Given the description of an element on the screen output the (x, y) to click on. 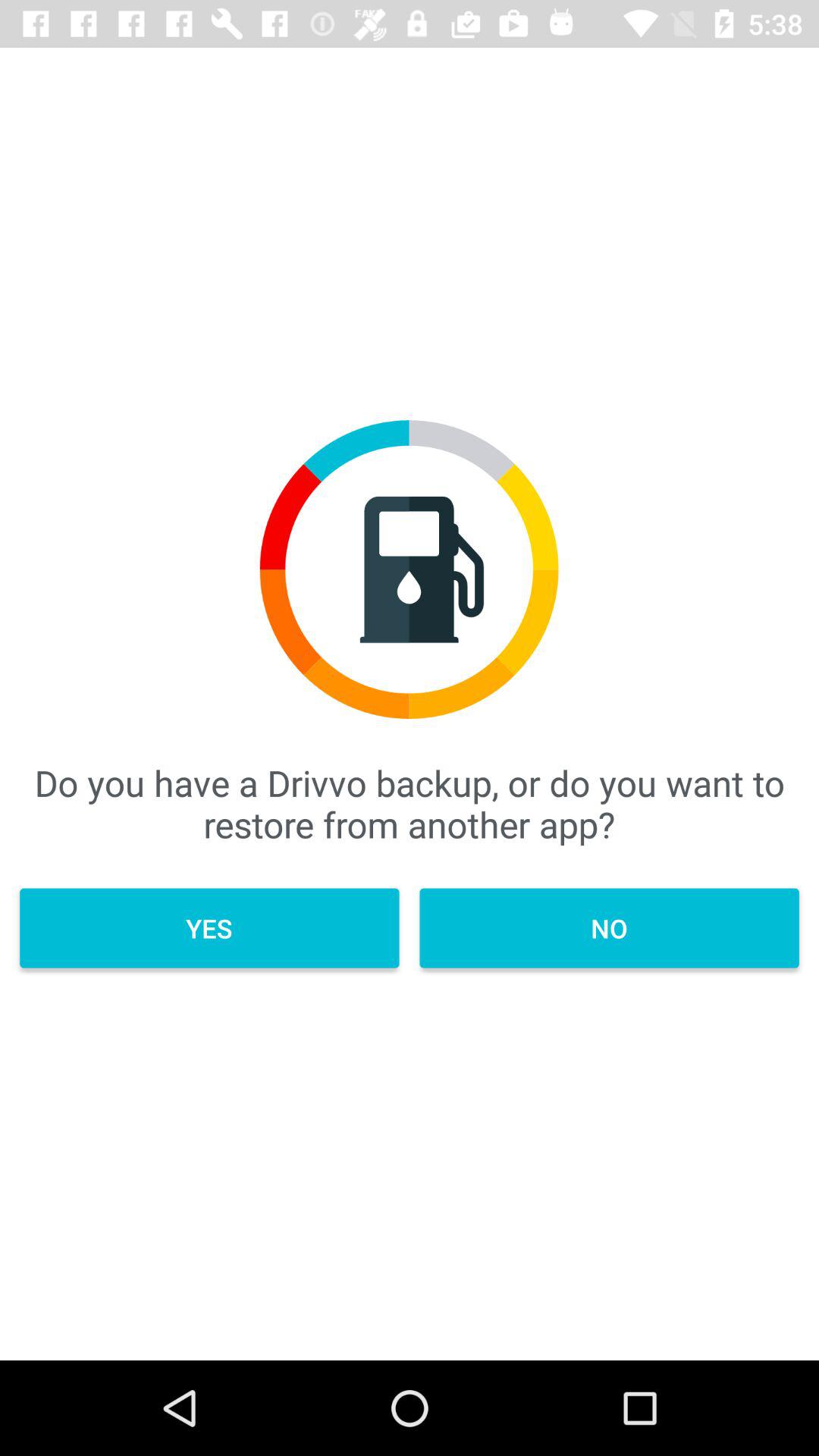
launch icon next to yes icon (609, 928)
